Given the description of an element on the screen output the (x, y) to click on. 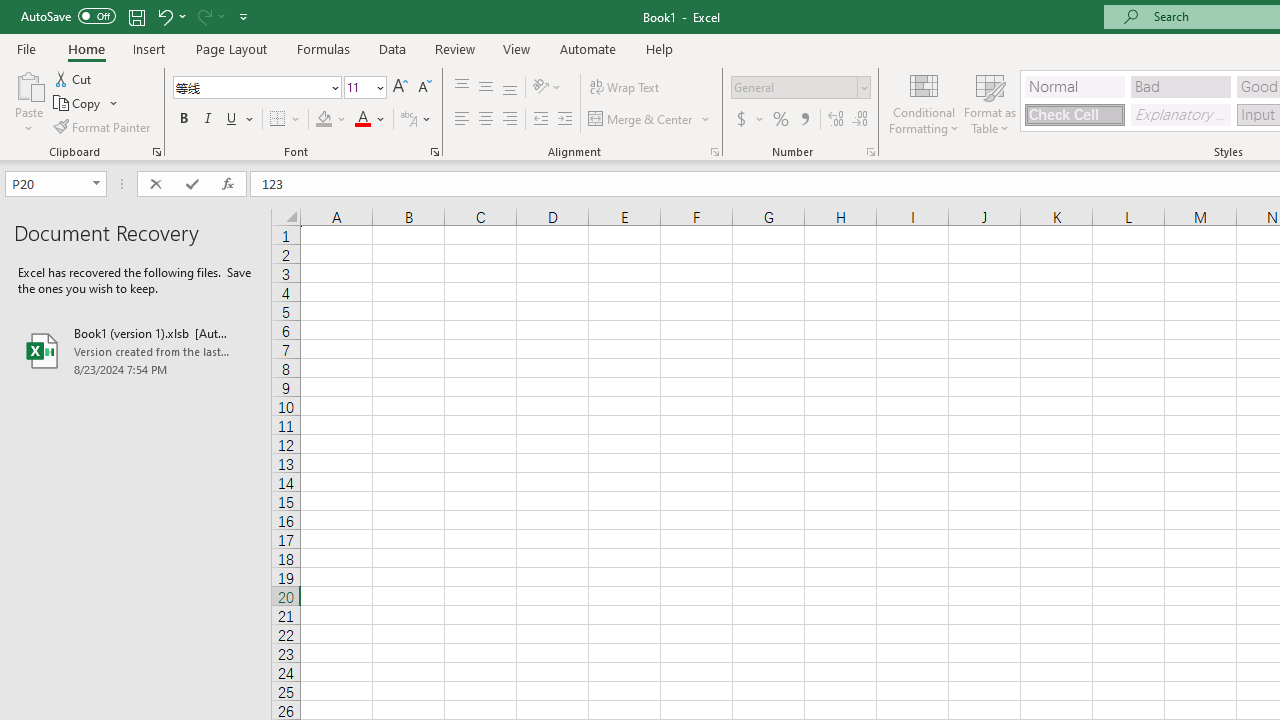
Merge & Center (649, 119)
Italic (207, 119)
Check Cell (1074, 114)
Format Cell Alignment (714, 151)
Number Format (800, 87)
Format as Table (990, 102)
Decrease Decimal (859, 119)
Font (250, 87)
Decrease Indent (540, 119)
